Given the description of an element on the screen output the (x, y) to click on. 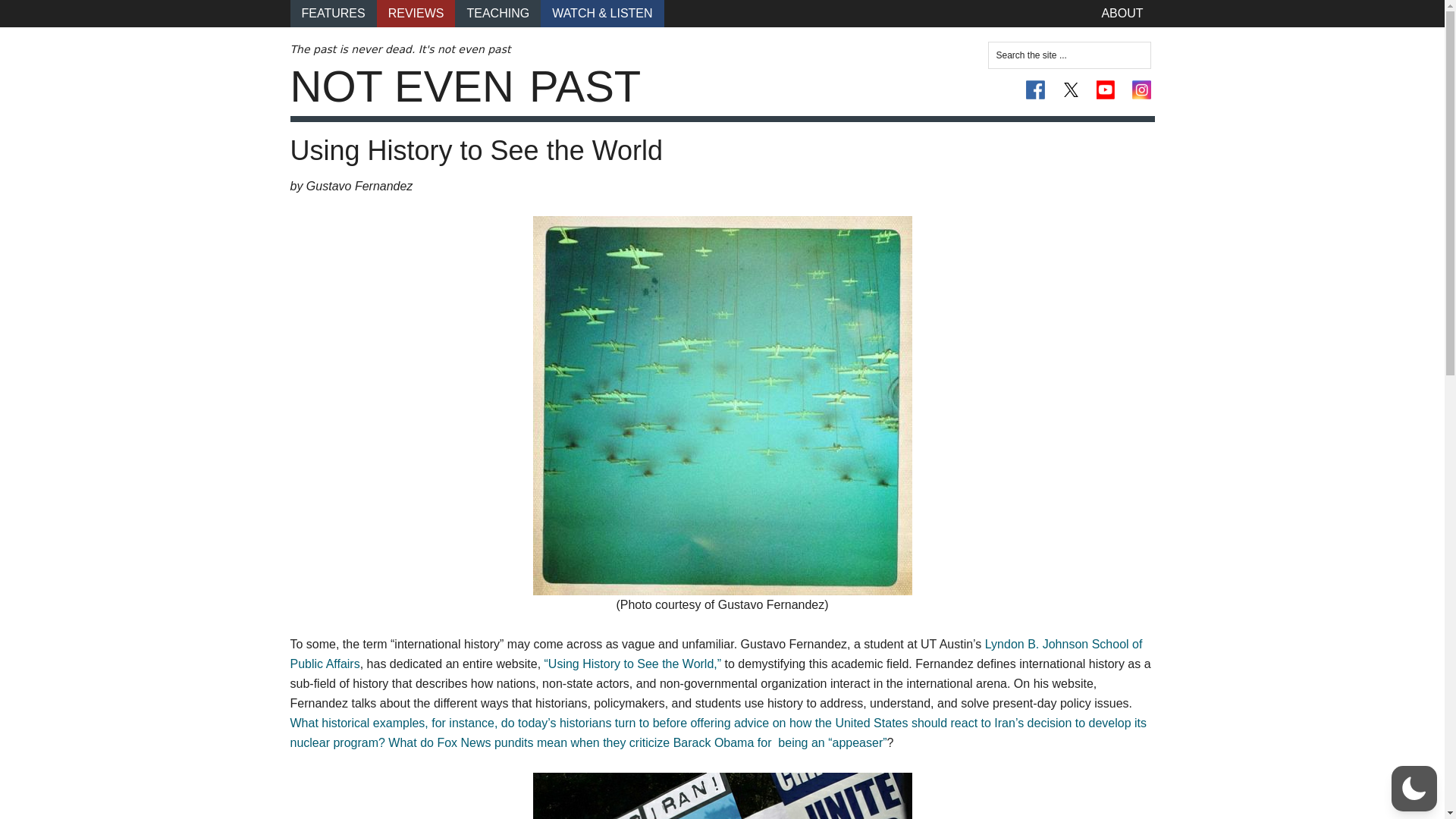
REVIEWS (416, 13)
Lyndon B. Johnson School of Public Affairs (715, 654)
NOT EVEN PAST (464, 85)
FEATURES (332, 13)
On Facebook (1035, 89)
TEACHING (497, 13)
On Twitter (1070, 89)
ABOUT (1121, 13)
Instagram (1140, 89)
Using History to See the World (475, 150)
YouTube Channel (1105, 89)
